Given the description of an element on the screen output the (x, y) to click on. 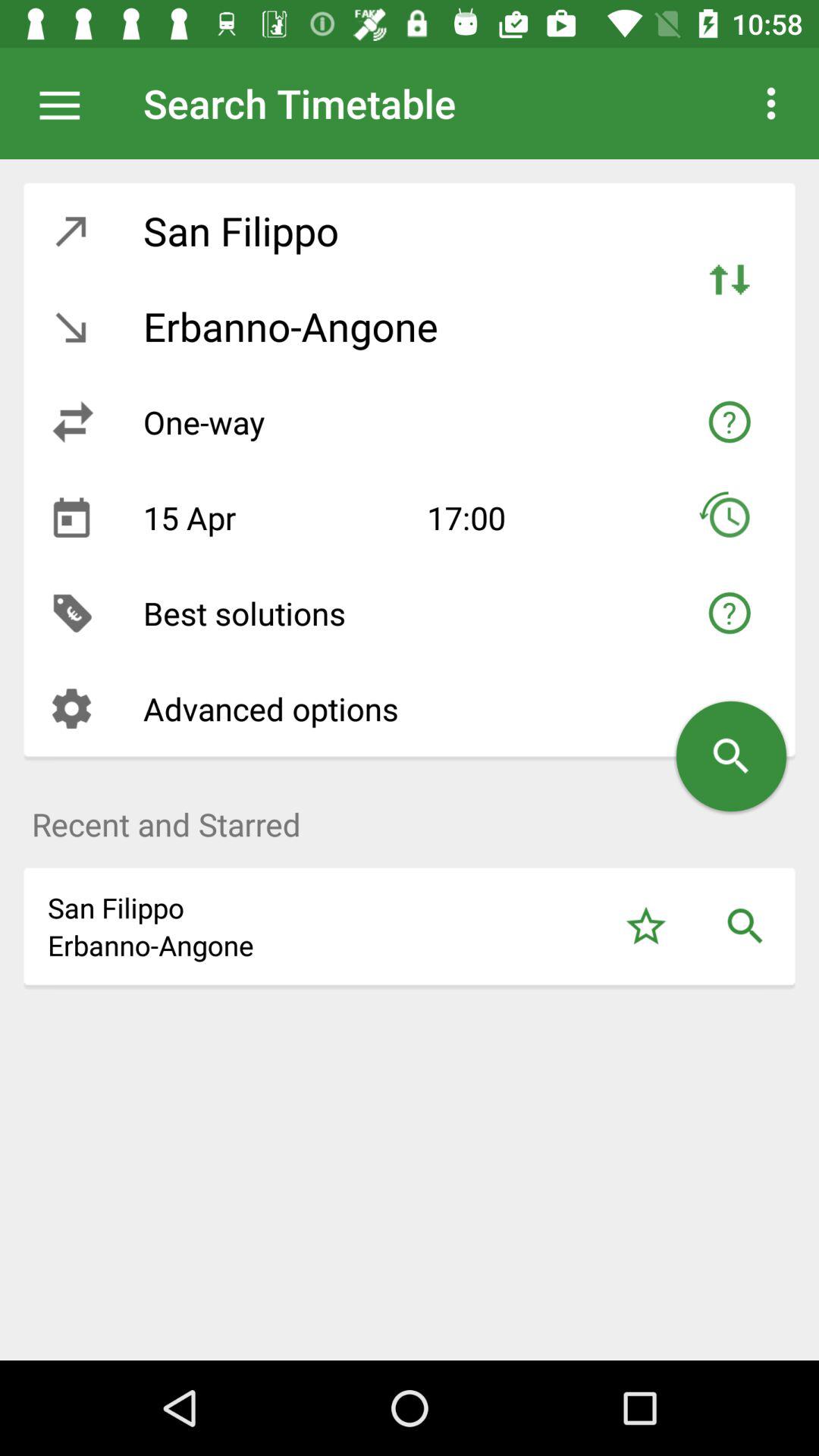
explore menu options (67, 103)
